Given the description of an element on the screen output the (x, y) to click on. 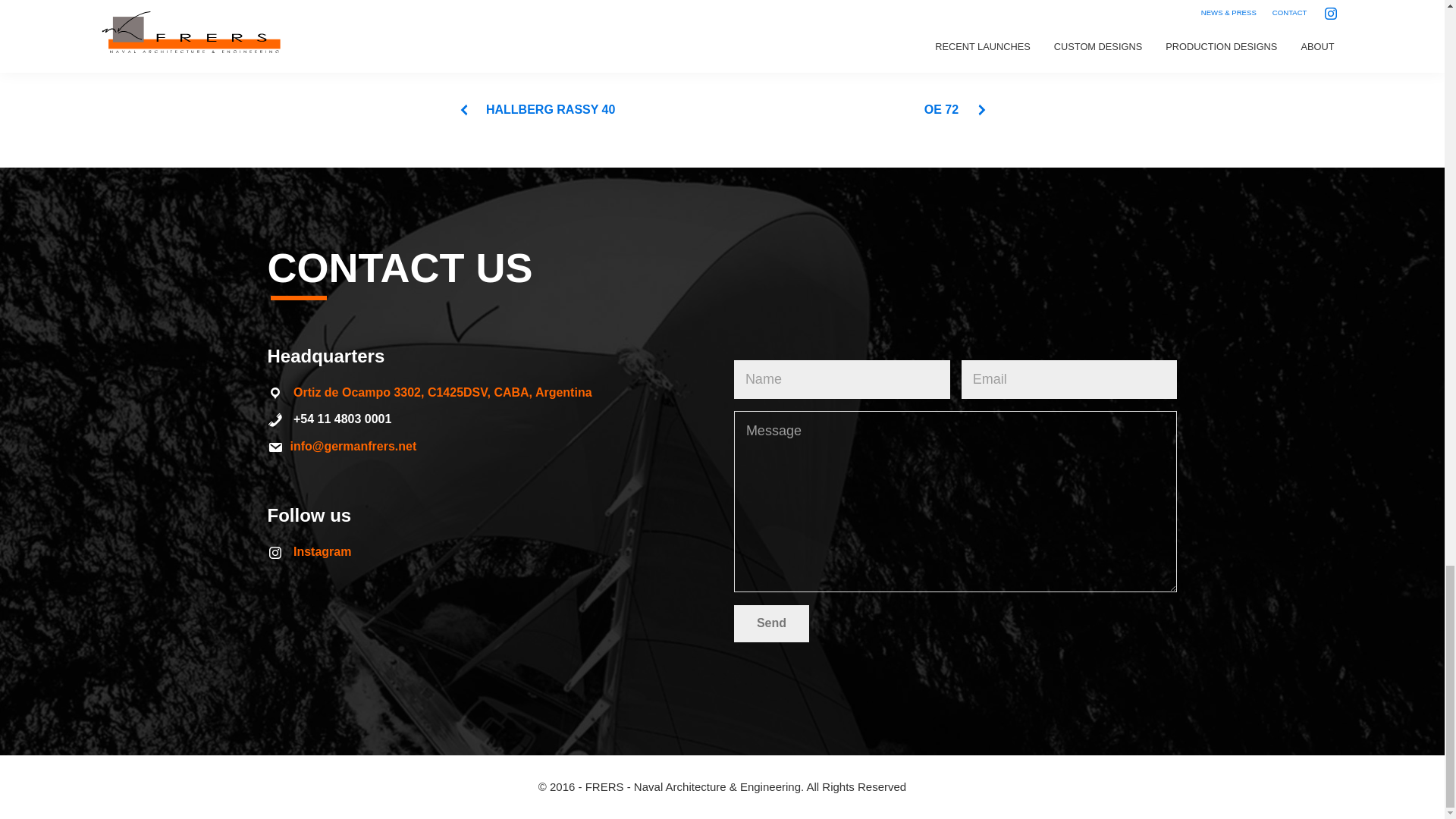
Instagram (322, 551)
Send (771, 623)
HALLBERG RASSY 40 (536, 109)
OE 72 (956, 109)
Send (771, 623)
Ortiz de Ocampo 3302, C1425DSV, CABA, Argentina (443, 391)
